Given the description of an element on the screen output the (x, y) to click on. 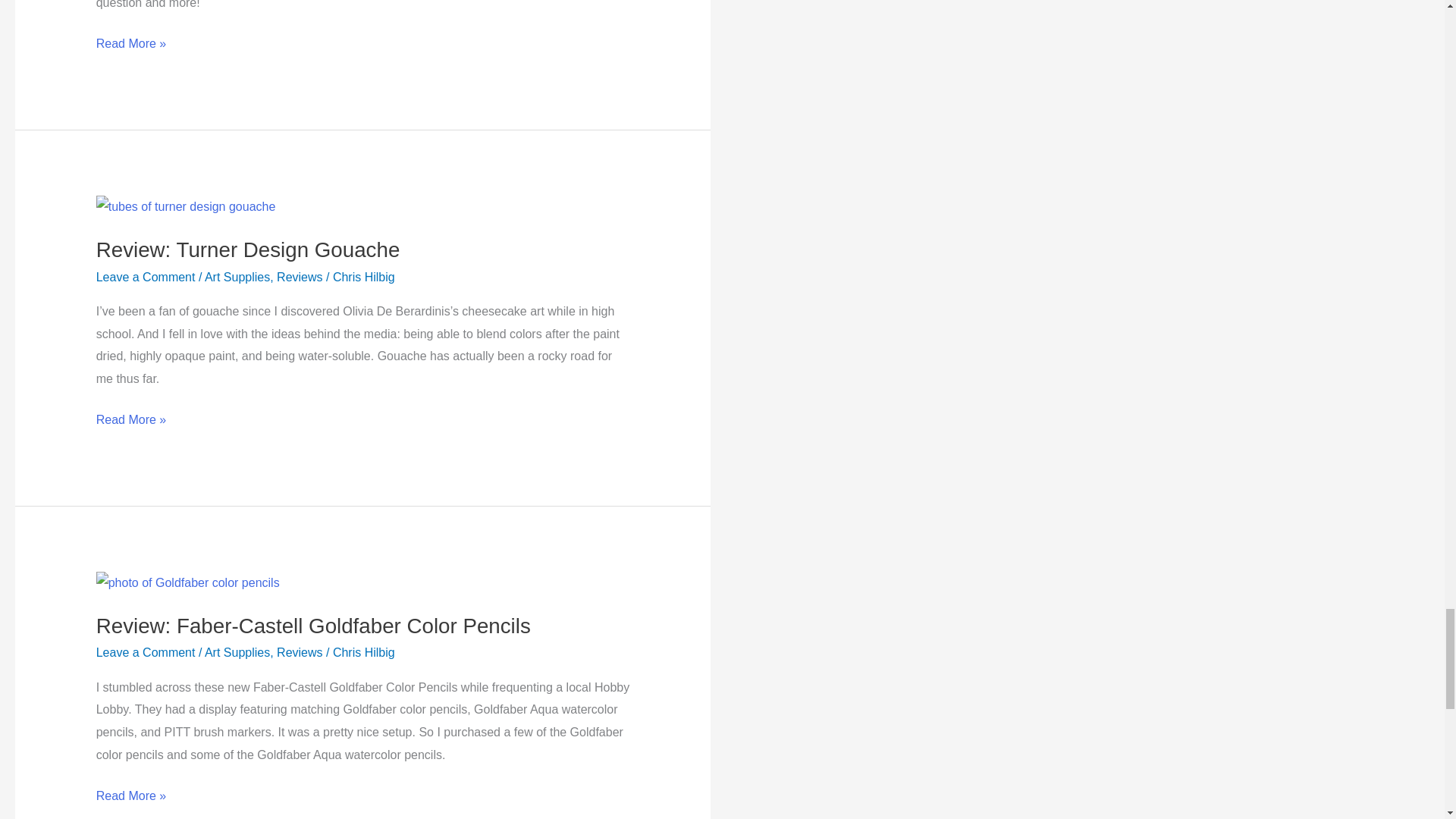
View all posts by Chris Hilbig (363, 277)
View all posts by Chris Hilbig (363, 652)
